Given the description of an element on the screen output the (x, y) to click on. 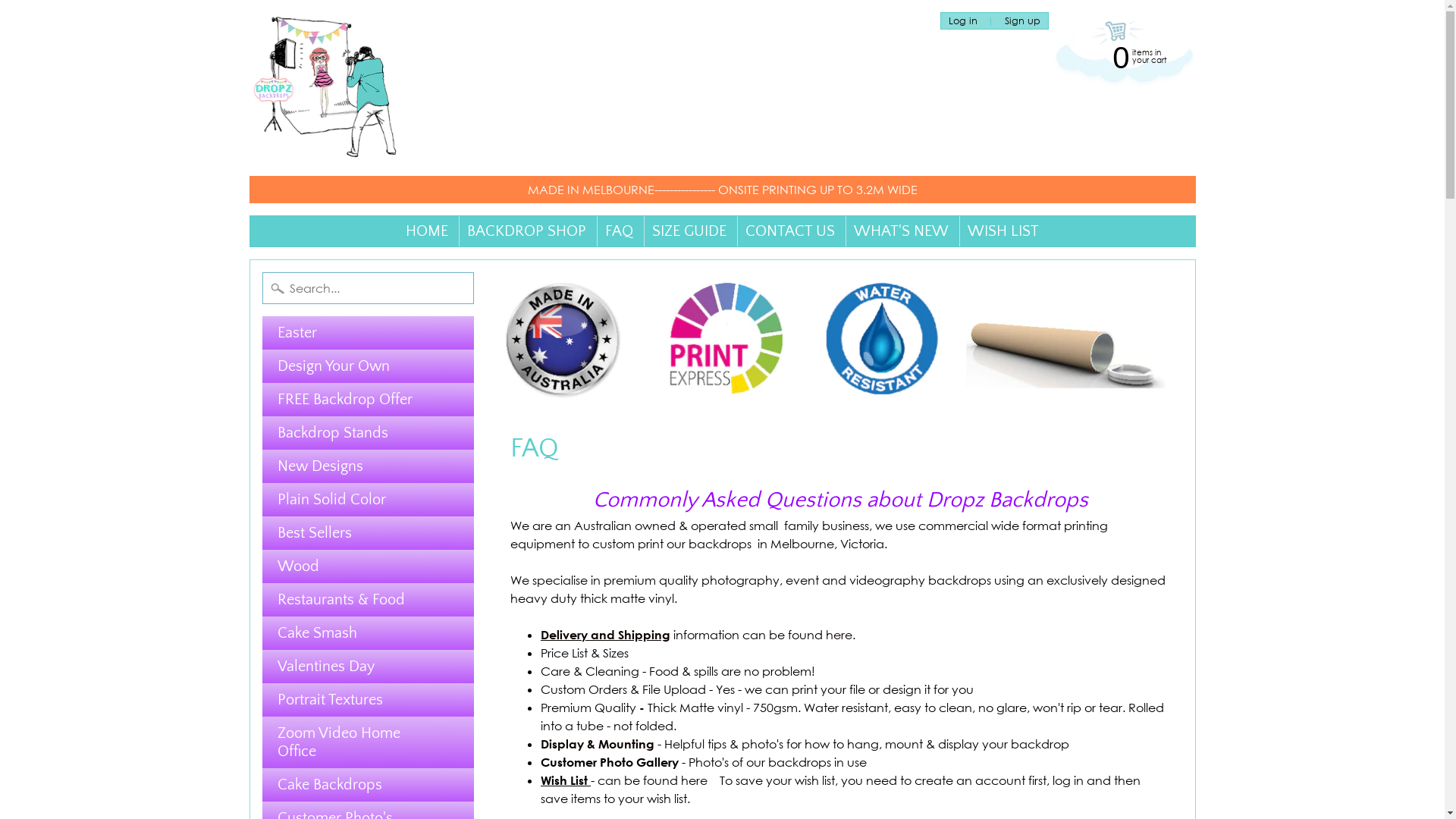
Plain Solid Color Element type: text (368, 499)
New Designs Element type: text (368, 466)
SIZE GUIDE Element type: text (689, 231)
Customer Photo Gallery Element type: text (609, 761)
Zoom Video Home Office Element type: text (368, 742)
WISH LIST Element type: text (1003, 231)
Valentines Day Element type: text (368, 666)
Care & Cleaning Element type: text (589, 670)
FAQ Element type: text (618, 231)
Premium Quality Element type: text (588, 707)
here Element type: text (838, 634)
Easter Element type: text (368, 332)
BACKDROP SHOP Element type: text (526, 231)
WHAT'S NEW Element type: text (901, 231)
Log in Element type: text (962, 20)
Cake Backdrops Element type: text (368, 784)
Dropz Backdrops Australia Element type: hover (324, 87)
Display & Mounting Element type: text (597, 743)
Restaurants & Food Element type: text (368, 599)
Sign up Element type: text (1022, 20)
Cake Smash Element type: text (368, 632)
Delivery and Shipping Element type: text (605, 634)
Backdrop Stands Element type: text (368, 432)
Best Sellers Element type: text (368, 532)
0
items in your cart Element type: text (1122, 56)
FREE Backdrop Offer Element type: text (368, 399)
Design Your Own Element type: text (368, 365)
CONTACT US Element type: text (789, 231)
HOME Element type: text (426, 231)
Portrait Textures Element type: text (368, 699)
here  Element type: text (695, 779)
Wood Element type: text (368, 566)
Custom Orders & File Upload Element type: text (623, 688)
Price List & Sizes Element type: text (584, 652)
